Given the description of an element on the screen output the (x, y) to click on. 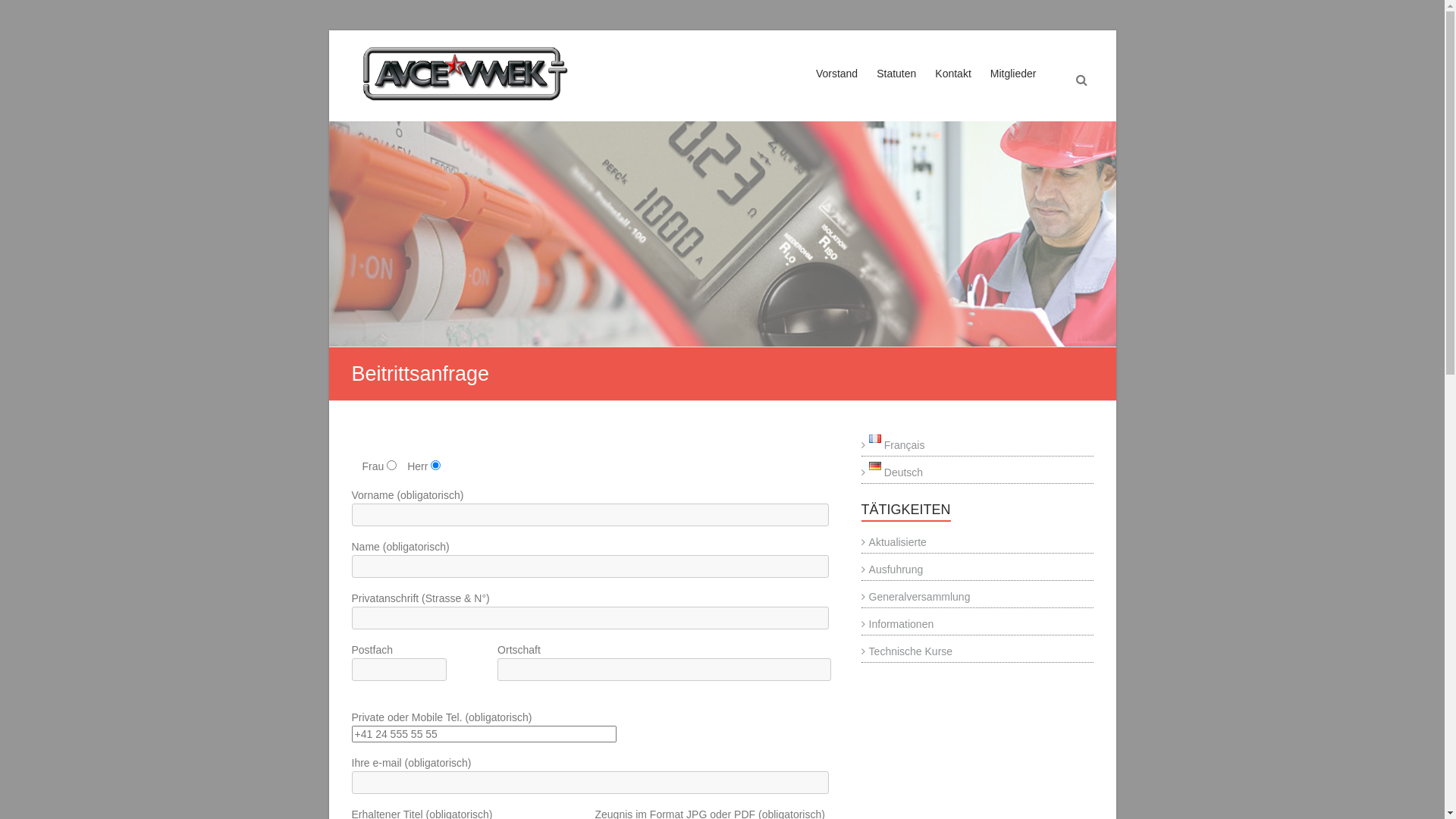
Aktualisierte Element type: text (893, 542)
Technische Kurse Element type: text (907, 651)
Generalversammlung Element type: text (915, 596)
Kontakt Element type: text (952, 87)
Zum Inhalt wechseln Element type: text (327, 29)
Ausfuhrung Element type: text (892, 569)
Informationen Element type: text (897, 624)
Mitglieder Element type: text (1013, 87)
Deutsch Element type: text (892, 472)
Statuten Element type: text (896, 87)
Vorstand Element type: text (836, 87)
